Given the description of an element on the screen output the (x, y) to click on. 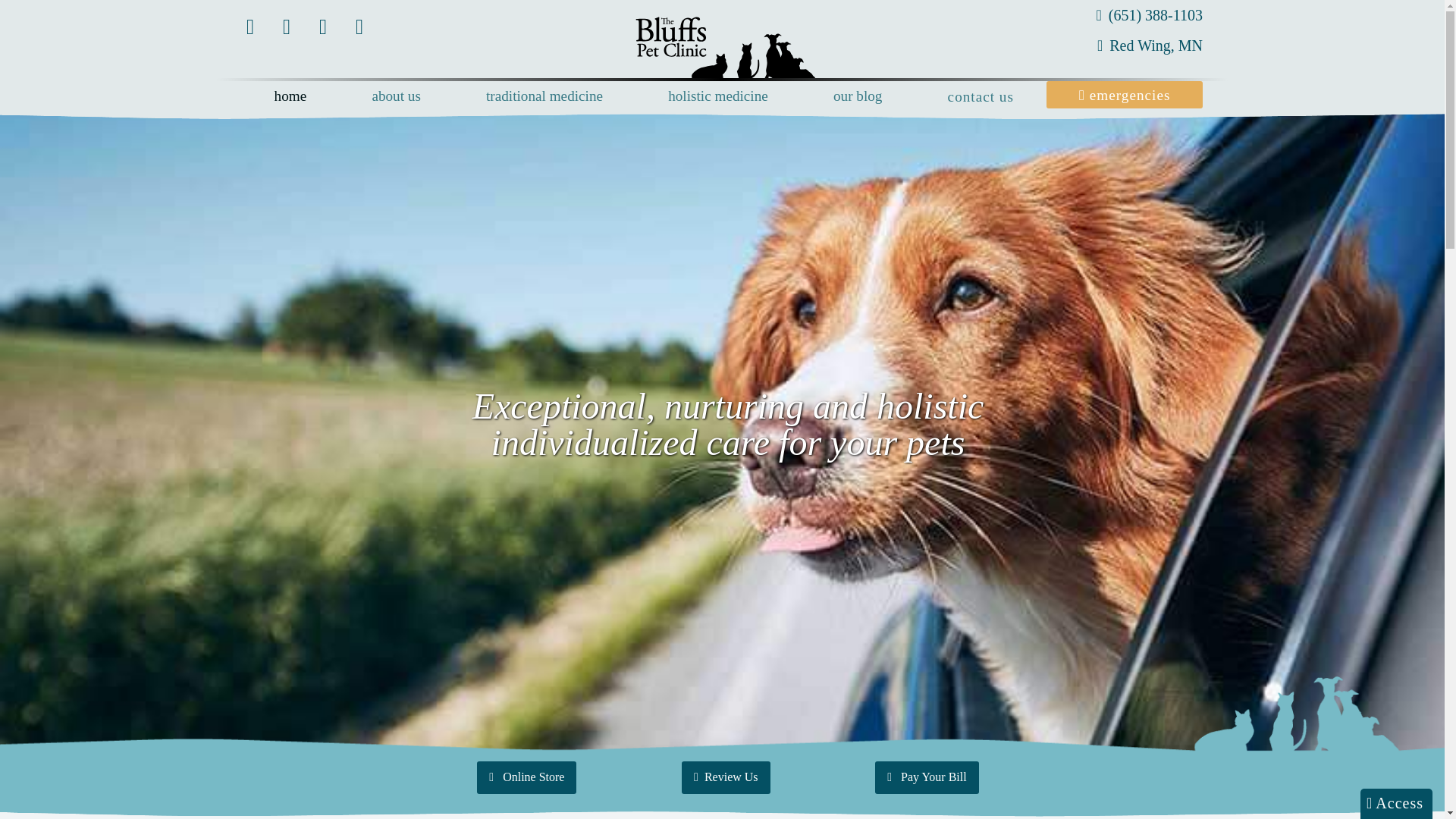
Access (1395, 803)
our blog (857, 96)
about us (395, 96)
emergencies (1125, 94)
Red Wing, MN (1117, 45)
The Bluffs Pet Clinic (727, 47)
contact us (980, 96)
Watch us on YouTube (288, 27)
holistic medicine (717, 96)
home (290, 96)
Follow us on Instagram (325, 27)
traditional medicine (543, 96)
Find us on Facebook (252, 27)
